Given the description of an element on the screen output the (x, y) to click on. 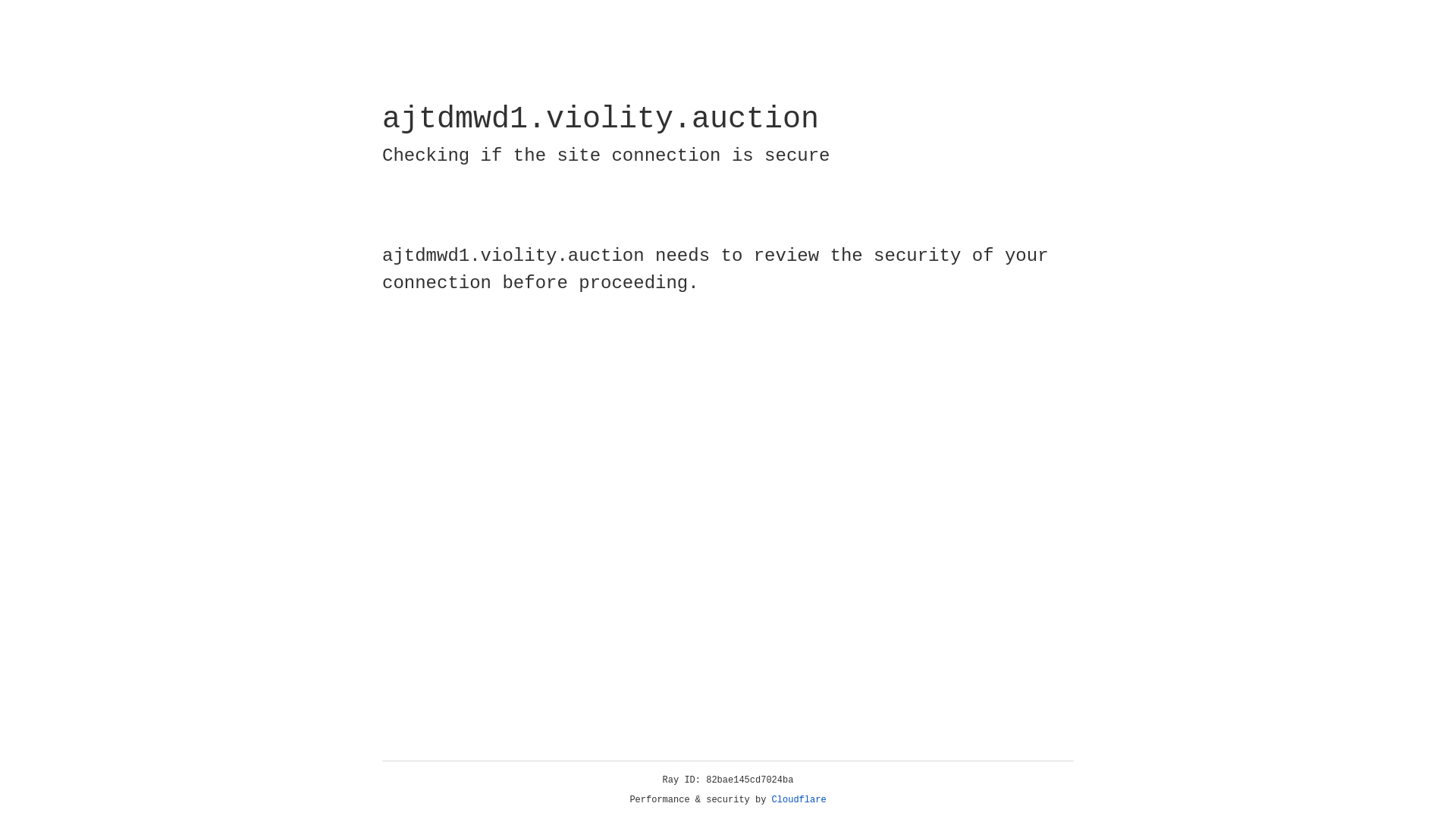
Cloudflare Element type: text (165, 107)
